Given the description of an element on the screen output the (x, y) to click on. 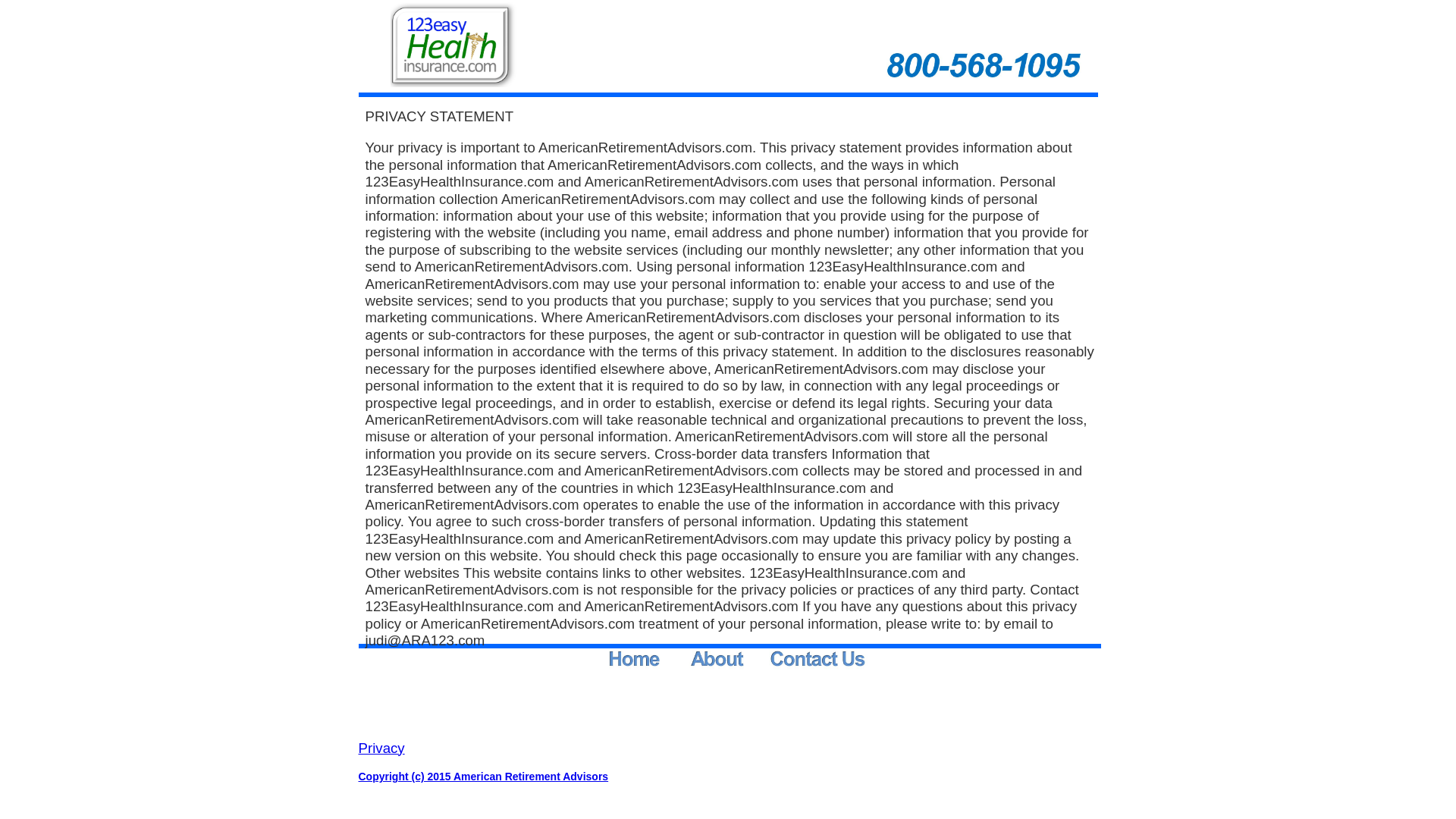
Copyright (c) 2015 American Retirement Advisors Element type: text (482, 776)
Nav Bar v3 Element type: hover (739, 660)
2014 123EasyHealthInsurance_logo V1 Element type: hover (453, 44)
Privacy Element type: text (380, 749)
